Given the description of an element on the screen output the (x, y) to click on. 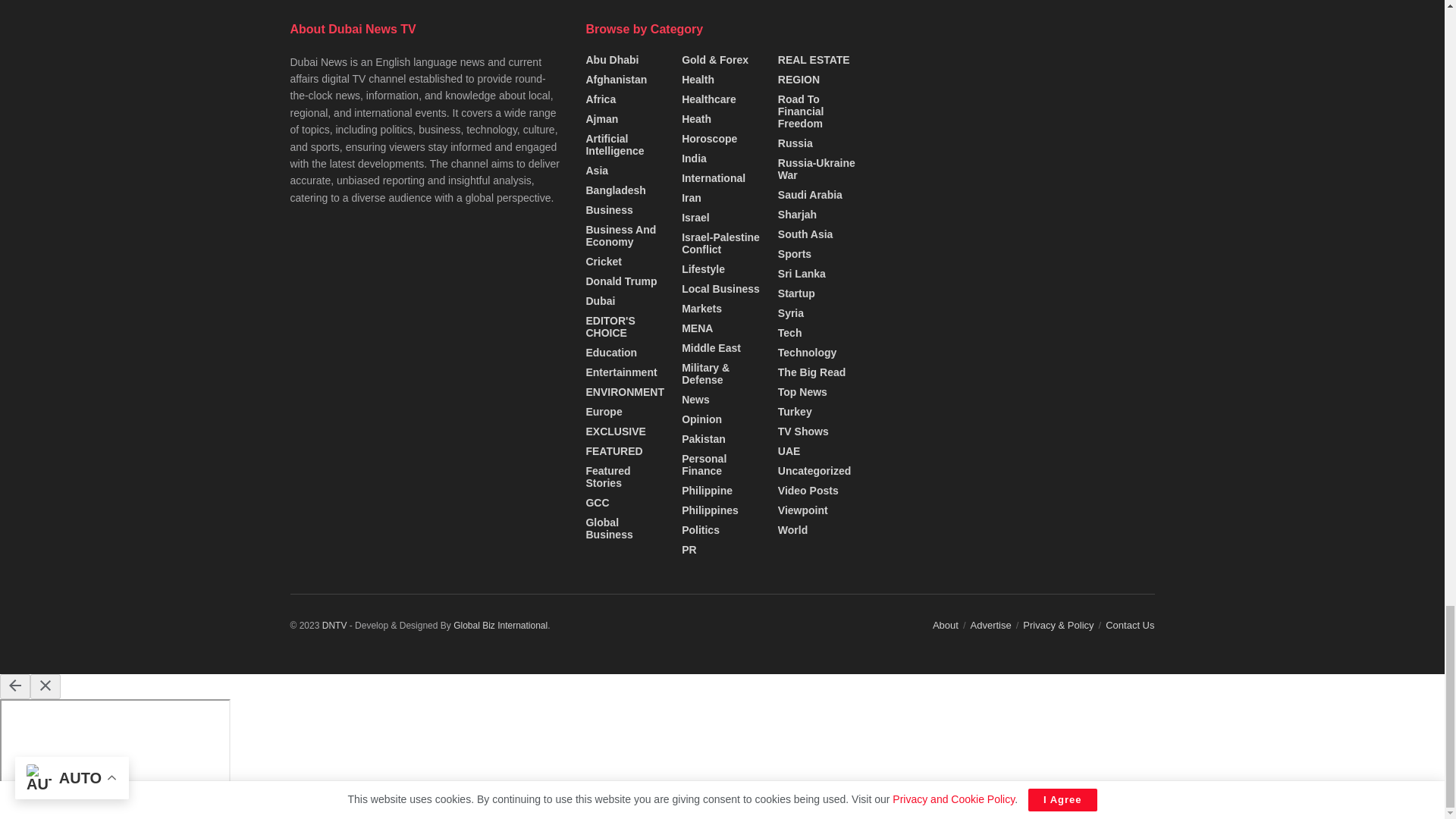
GBI (499, 624)
Dubai News TV (334, 624)
